Given the description of an element on the screen output the (x, y) to click on. 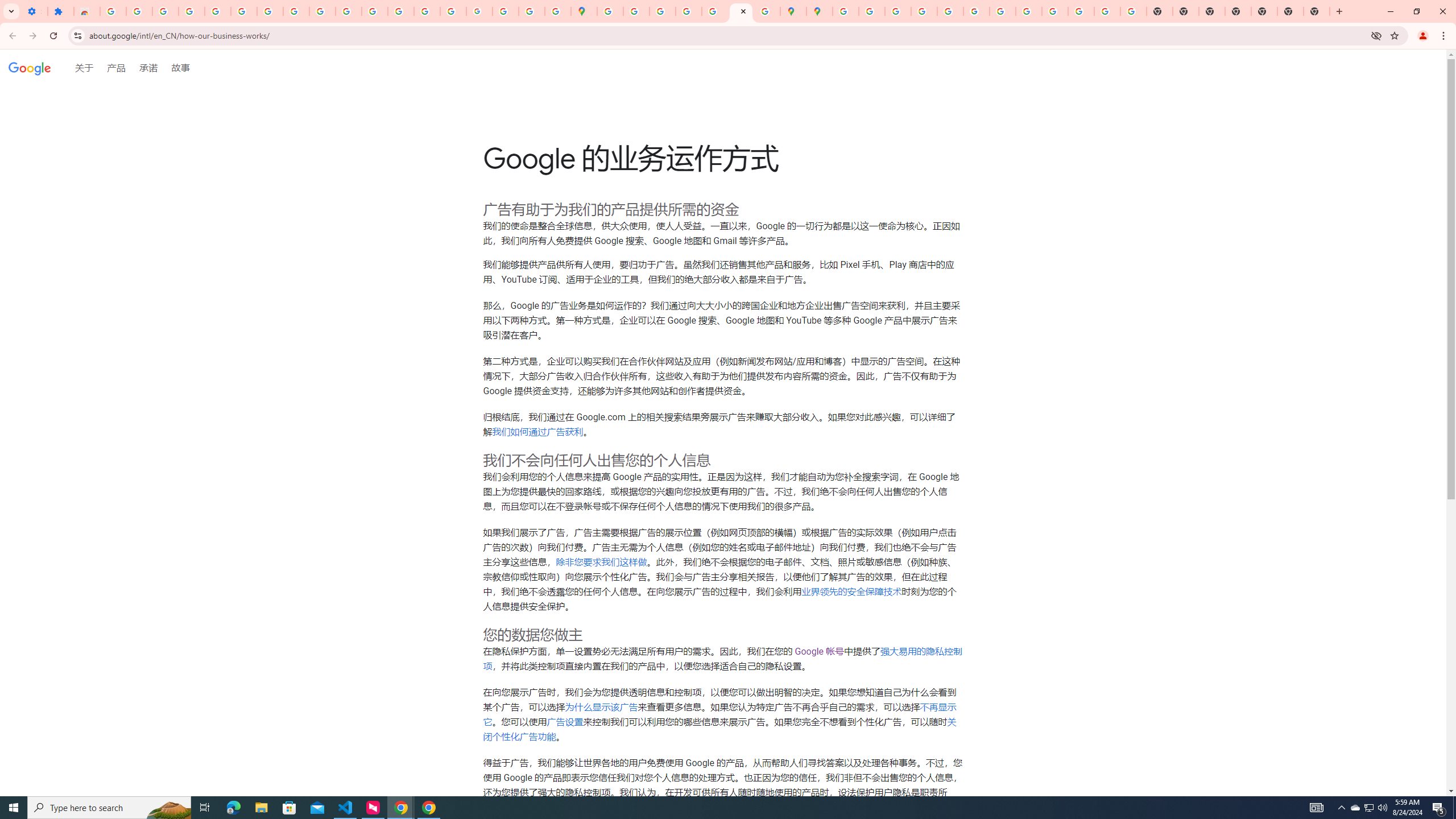
Extensions (60, 11)
New Tab (1290, 11)
New Tab (1238, 11)
Google Maps (584, 11)
